Given the description of an element on the screen output the (x, y) to click on. 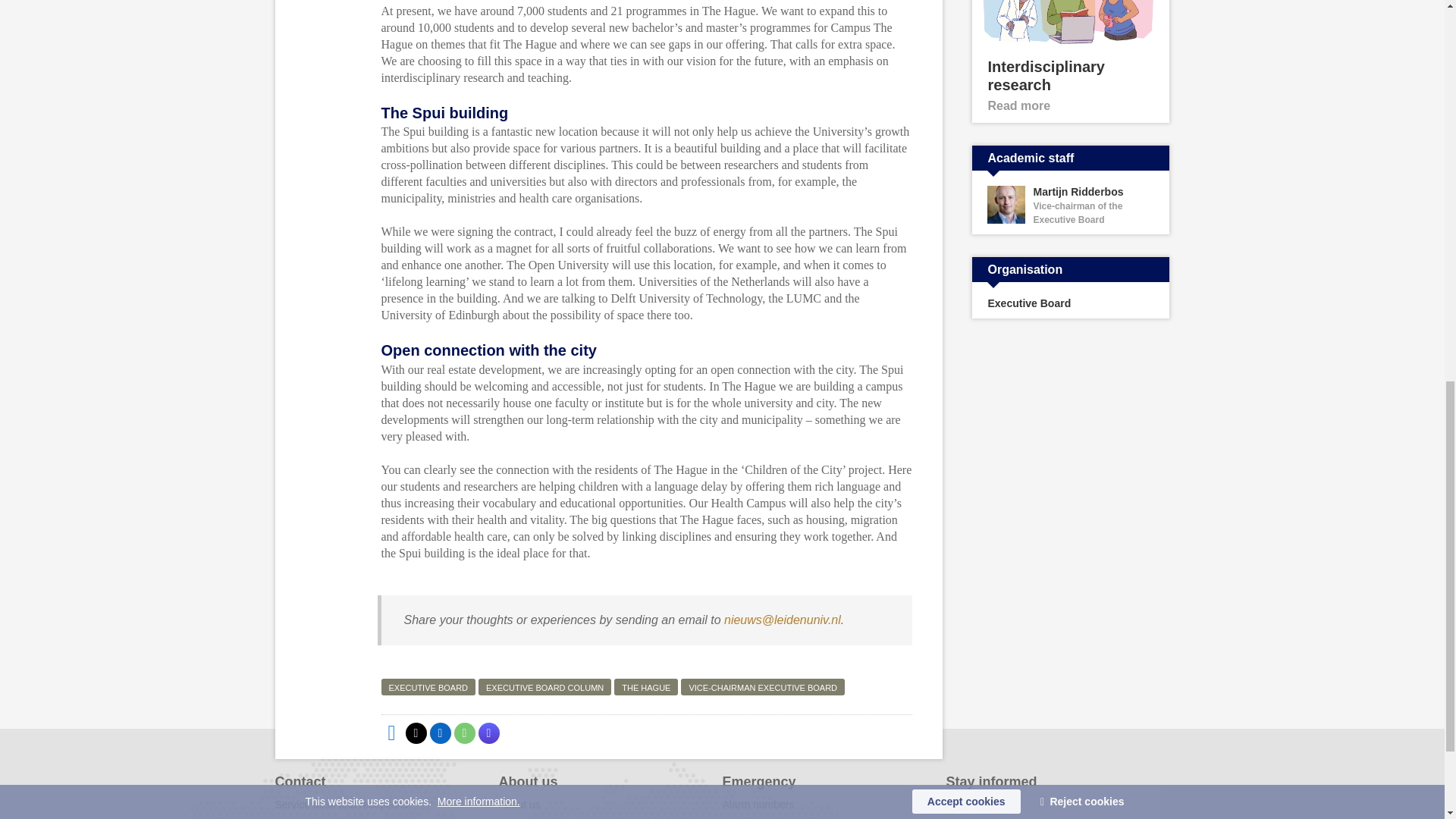
Share on Facebook (390, 732)
Share by WhatsApp (463, 732)
Share by Mastodon (488, 732)
Share on X (415, 732)
Share on LinkedIn (439, 732)
